Given the description of an element on the screen output the (x, y) to click on. 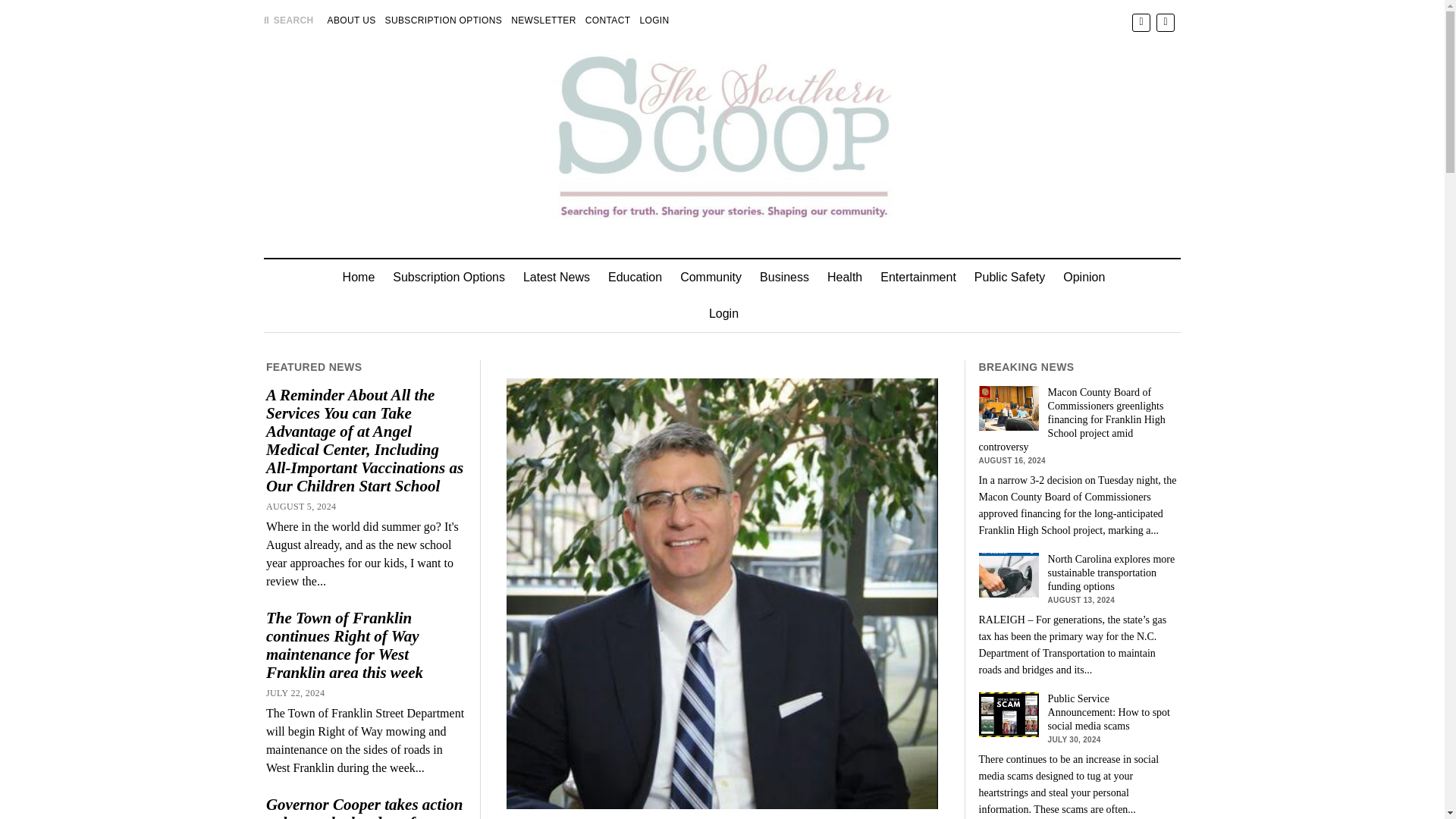
Latest News (555, 277)
Login (724, 313)
Home (358, 277)
Public Safety (1009, 277)
Education (634, 277)
SEARCH (288, 20)
ABOUT US (351, 20)
SUBSCRIPTION OPTIONS (443, 20)
CONTACT (607, 20)
Search (945, 129)
